Given the description of an element on the screen output the (x, y) to click on. 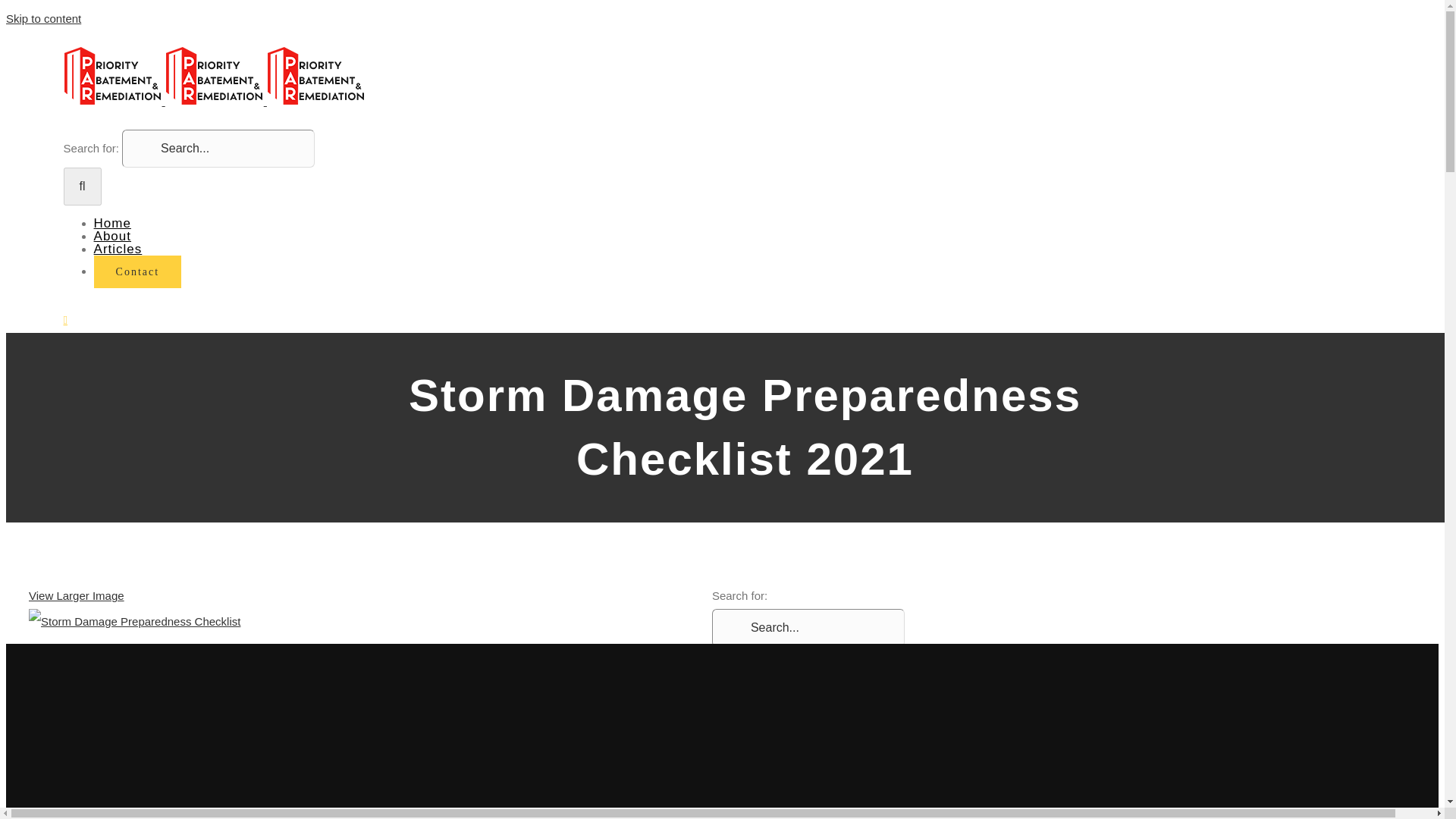
Contact (138, 270)
Recent (764, 734)
About (112, 236)
Popular (765, 708)
Skip to content (43, 18)
Home (112, 223)
Articles (118, 248)
